Given the description of an element on the screen output the (x, y) to click on. 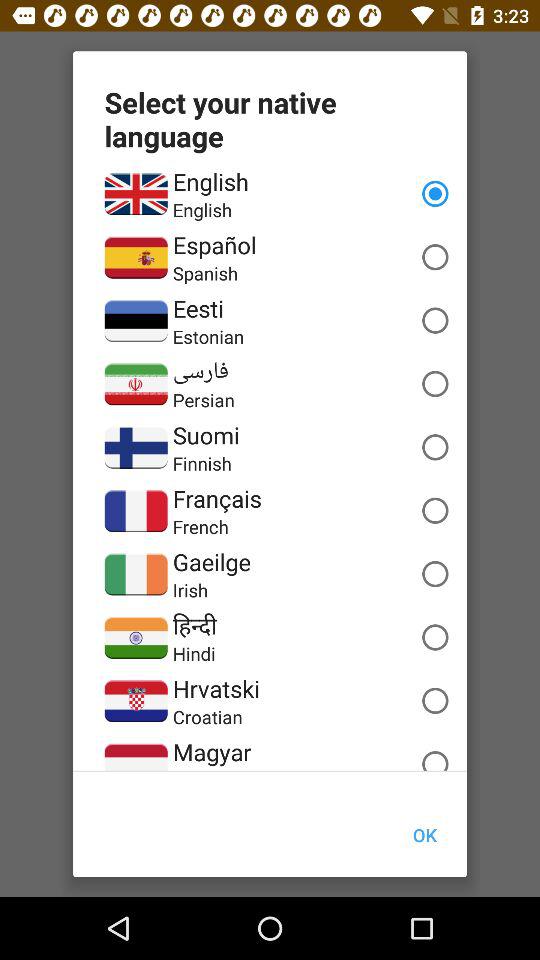
turn off croatian icon (207, 716)
